Given the description of an element on the screen output the (x, y) to click on. 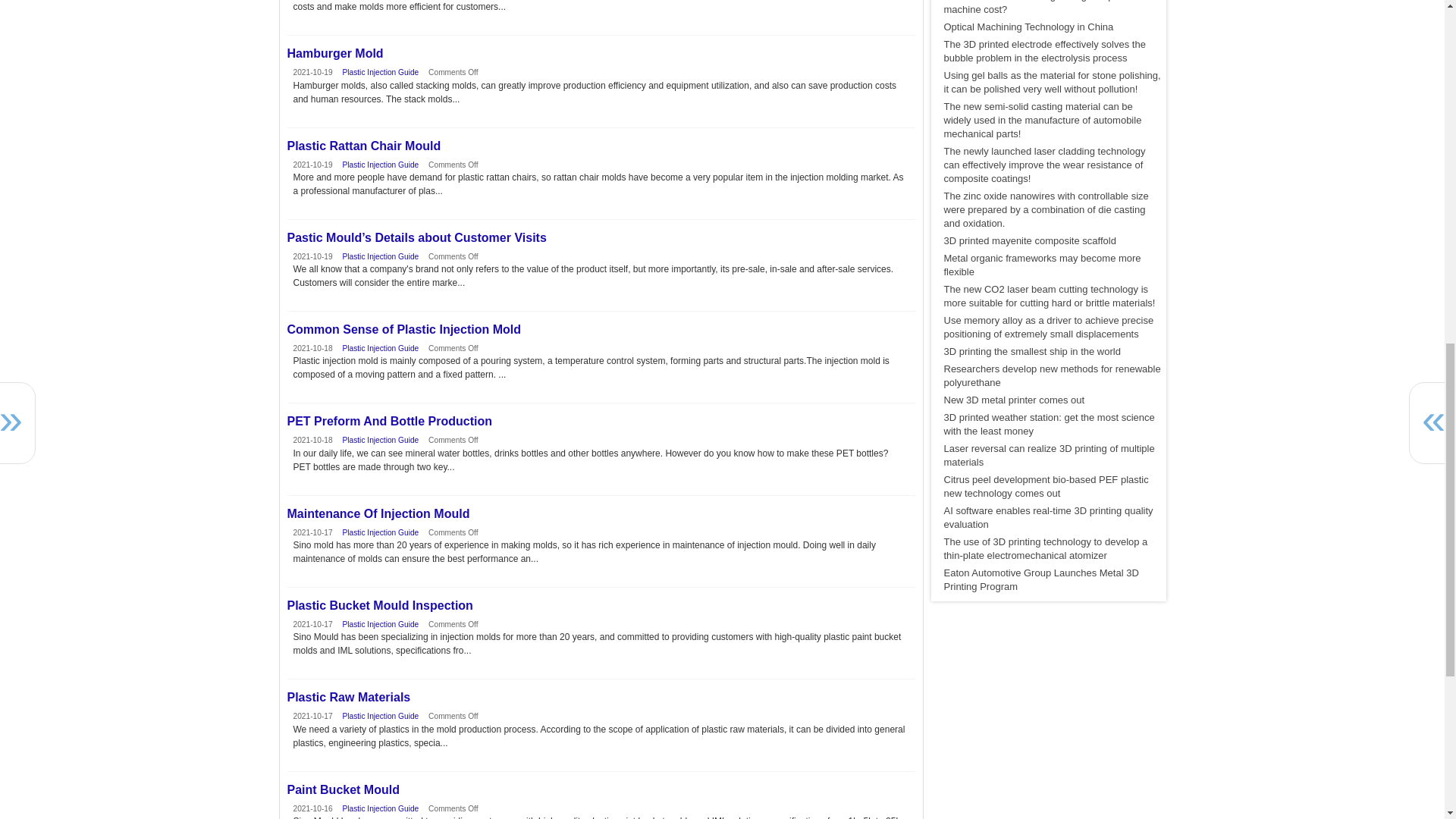
Plastic Raw Materials (600, 697)
Plastic Rattan Chair Mould (600, 146)
Paint Bucket Mould (600, 789)
Maintenance Of Injection Mould (600, 513)
Hamburger Mold (600, 53)
Common Sense of Plastic Injection Mold (600, 329)
Plastic Bucket Mould Inspection (600, 605)
PET Preform And Bottle Production (600, 421)
